Given the description of an element on the screen output the (x, y) to click on. 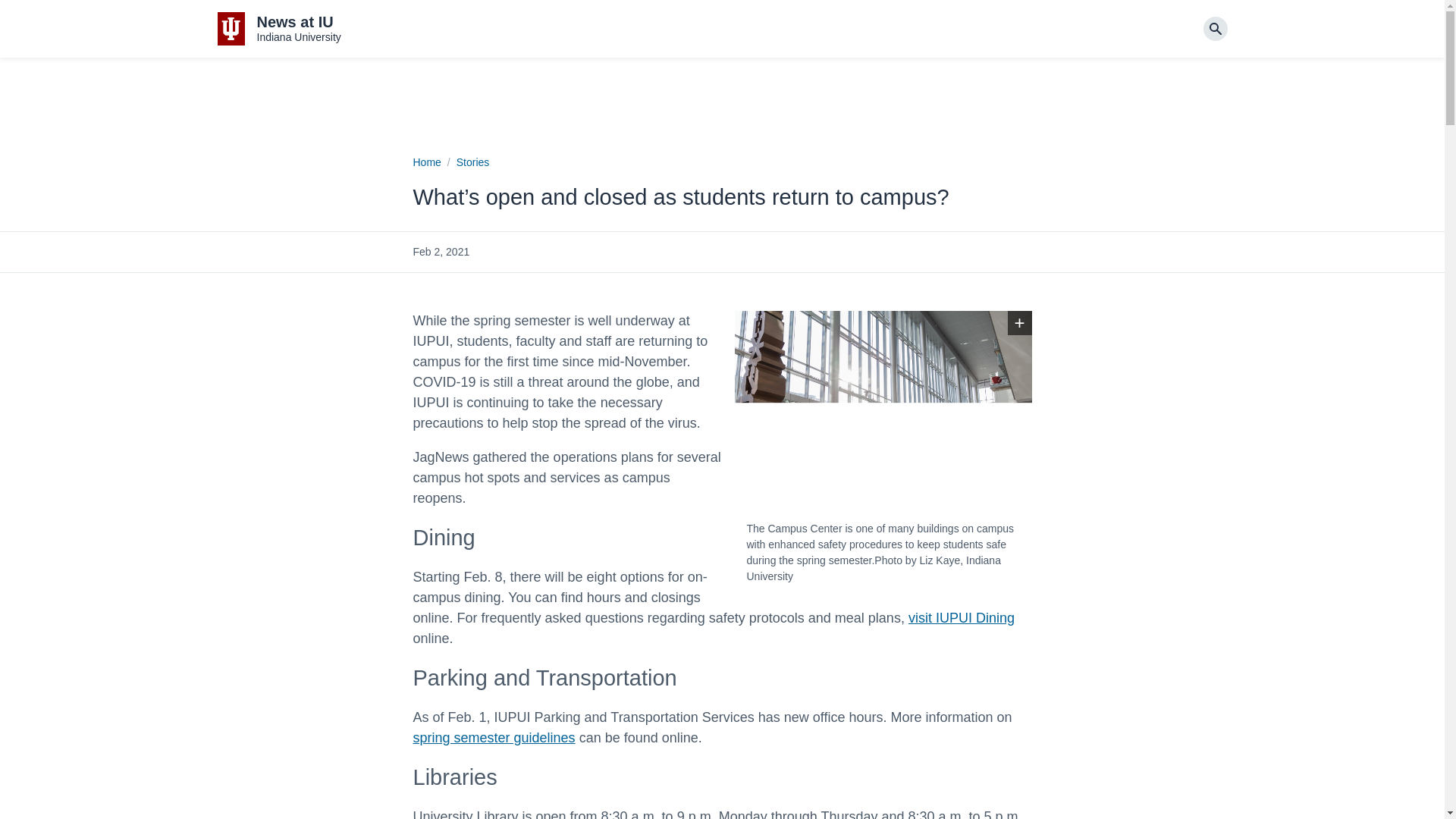
Click to view the print quality image (278, 28)
Stories (1018, 322)
View print quality image (473, 162)
Home (1018, 322)
spring semester guidelines (426, 162)
visit IUPUI Dining (493, 737)
Search (961, 617)
